Given the description of an element on the screen output the (x, y) to click on. 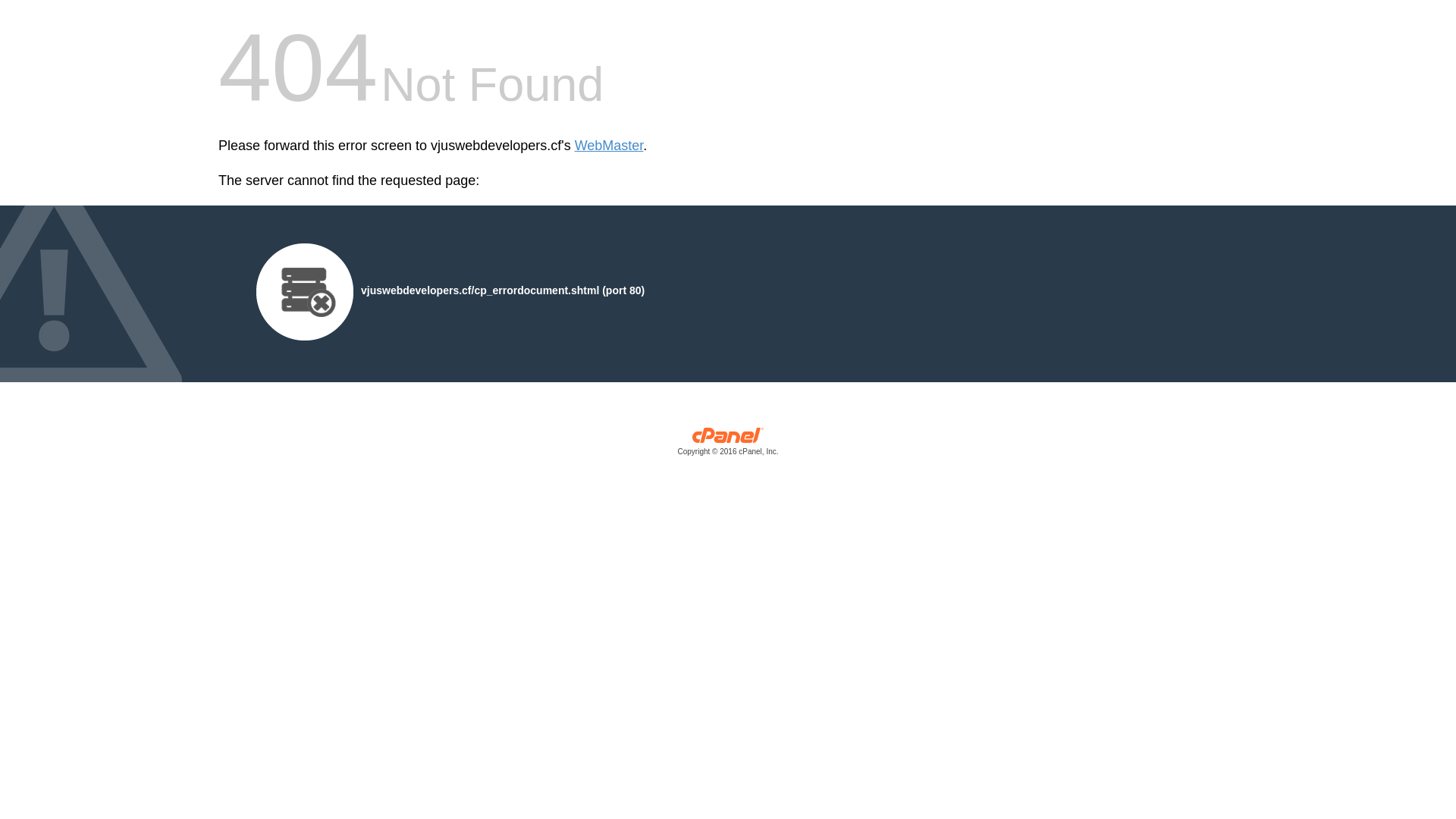
WebMaster Element type: text (608, 145)
